Given the description of an element on the screen output the (x, y) to click on. 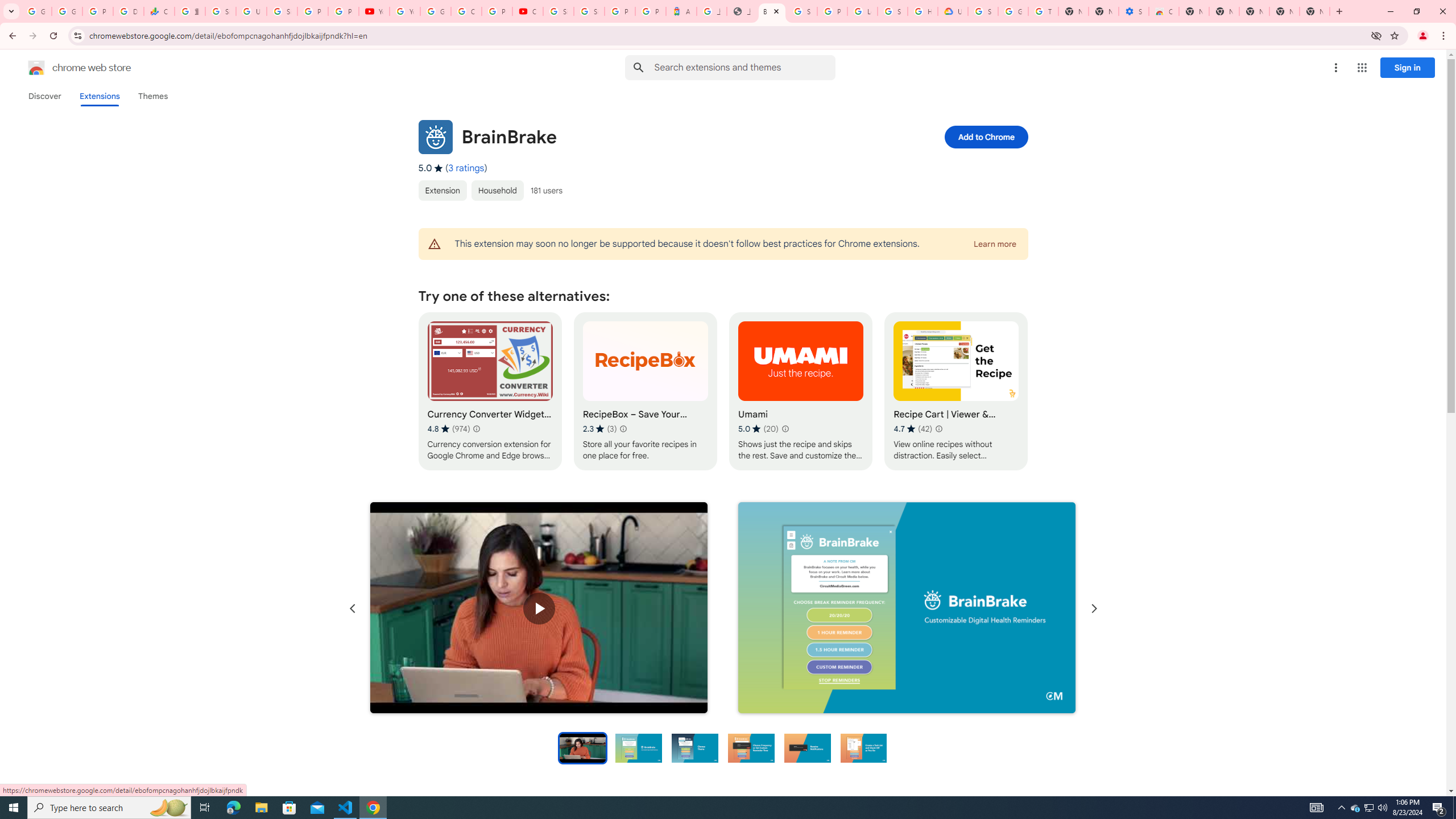
Preview slide 2 (638, 747)
Preview slide 6 (863, 747)
Themes (152, 95)
Google Account Help (1012, 11)
Preview slide 1 (582, 747)
Learn more about results and reviews "Umami" (784, 428)
